Given the description of an element on the screen output the (x, y) to click on. 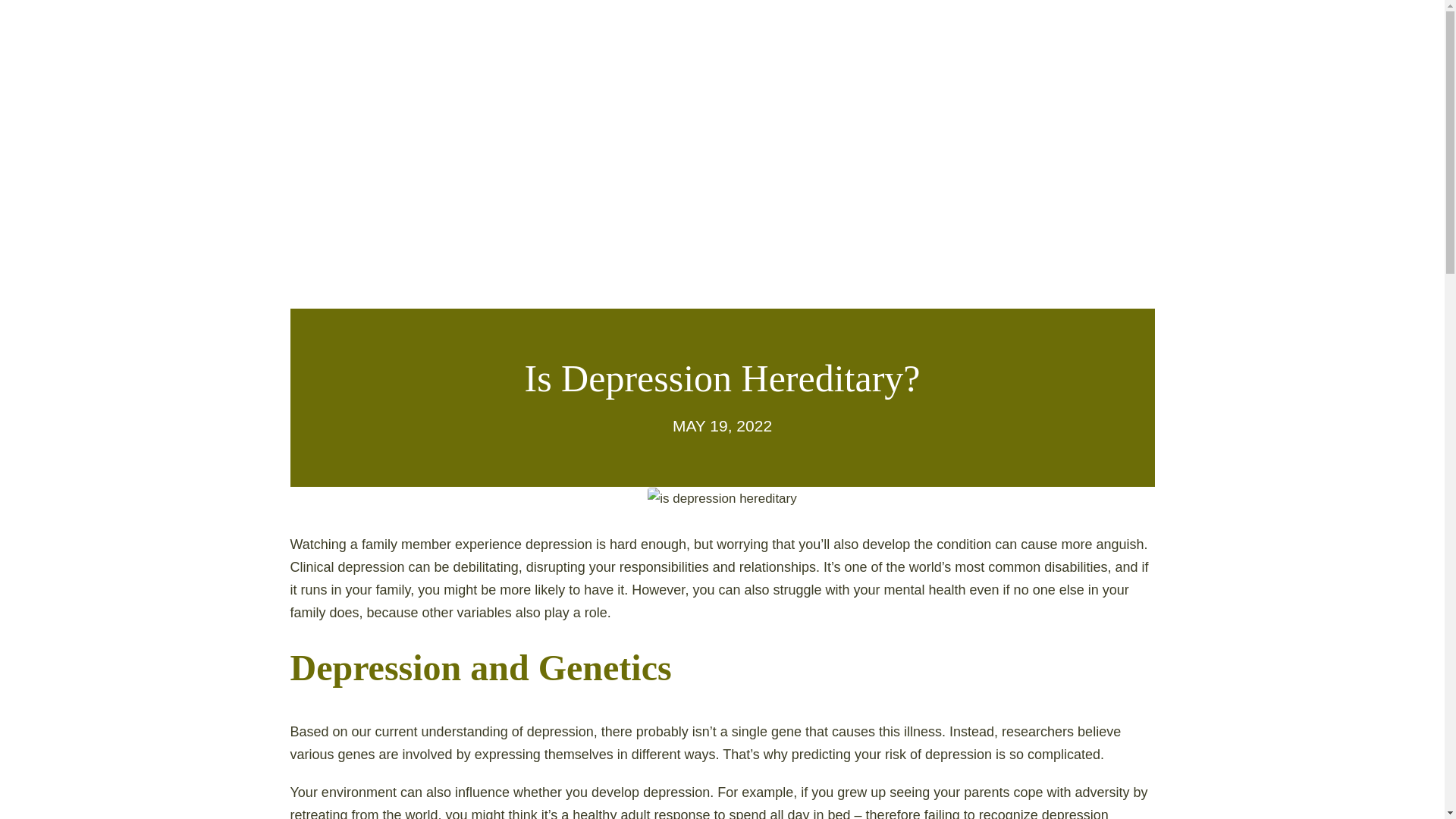
Admissions (590, 33)
About (305, 33)
Programs (439, 33)
Resources (873, 33)
Alumni (732, 33)
Home (188, 33)
